Given the description of an element on the screen output the (x, y) to click on. 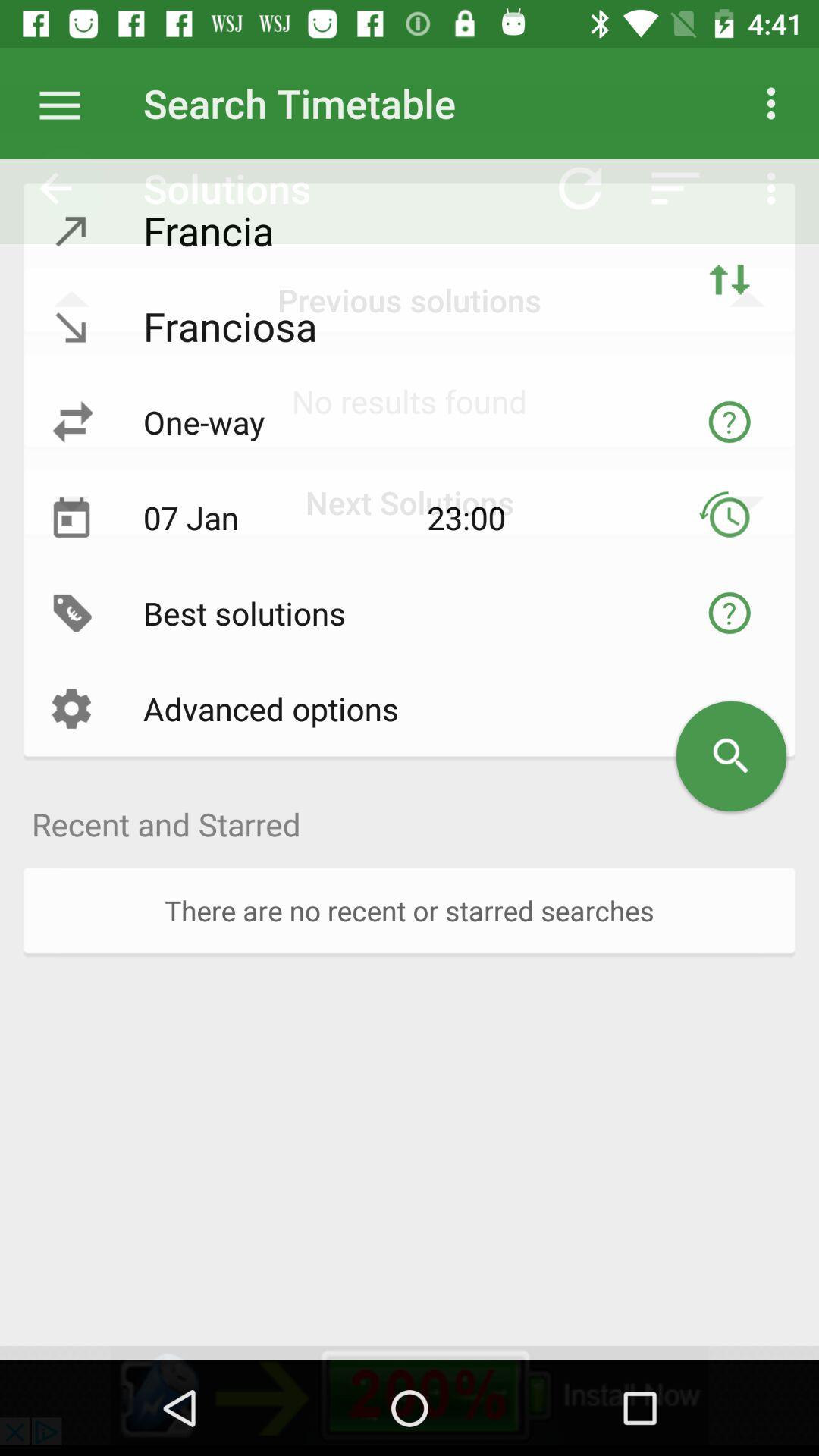
open list menu (67, 103)
